Given the description of an element on the screen output the (x, y) to click on. 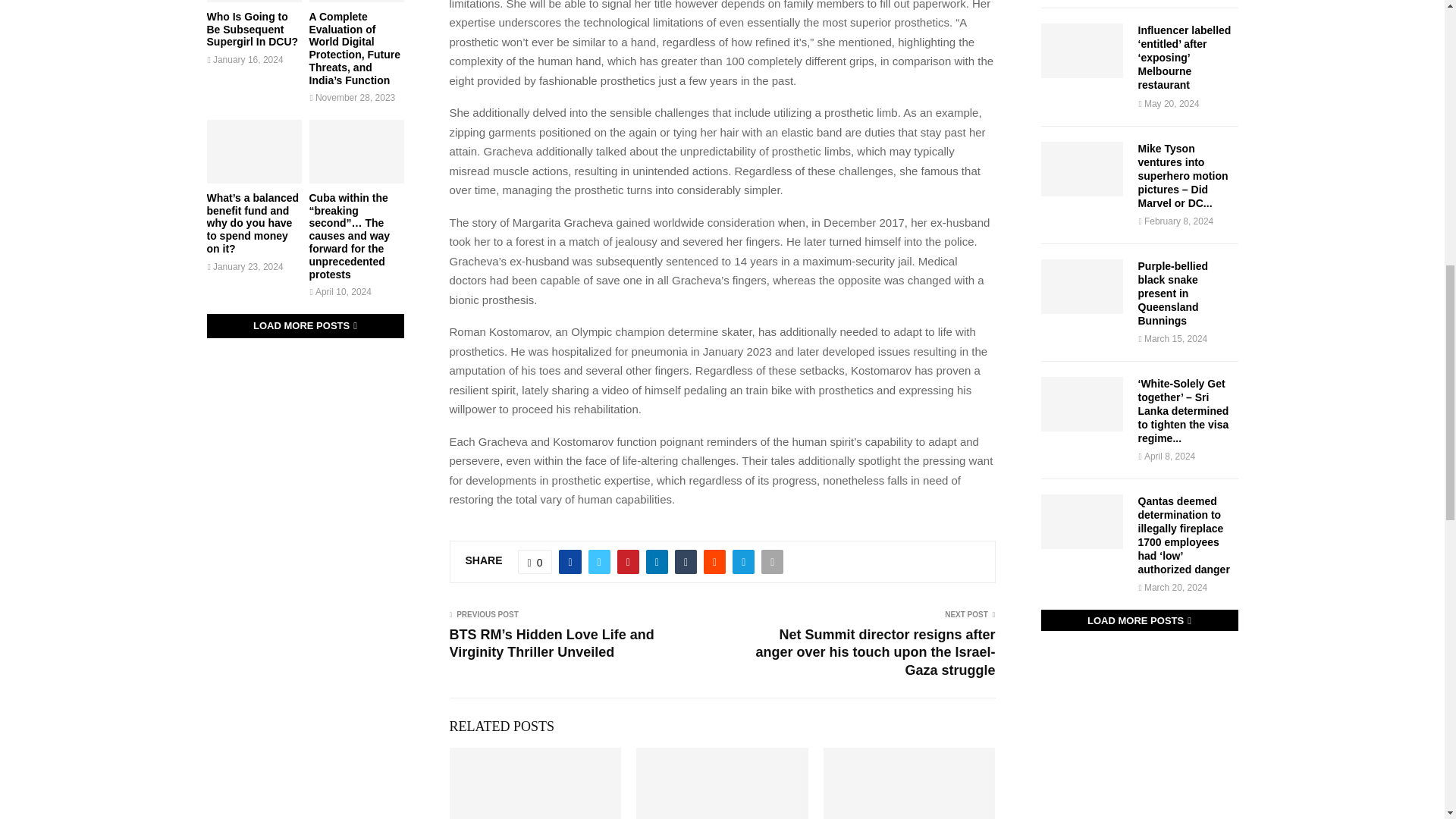
Like (535, 560)
